Given the description of an element on the screen output the (x, y) to click on. 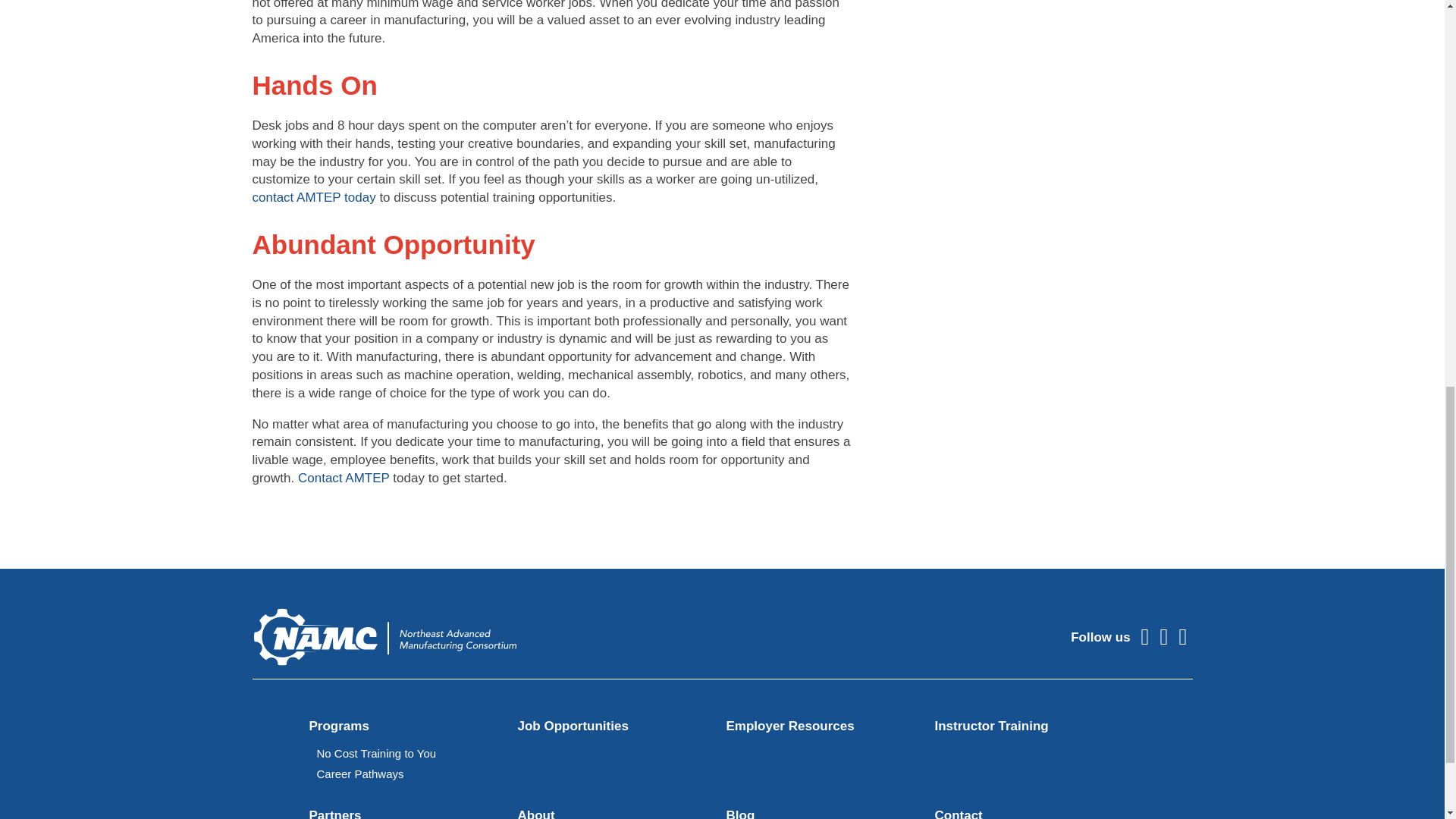
Contact AMTEP (344, 477)
No Cost Training to You (376, 753)
Career Pathways (360, 773)
Instructor Training (991, 726)
contact AMTEP today (313, 197)
Programs (338, 726)
Partners (334, 813)
Job Opportunities (571, 726)
Employer Resources (790, 726)
